Given the description of an element on the screen output the (x, y) to click on. 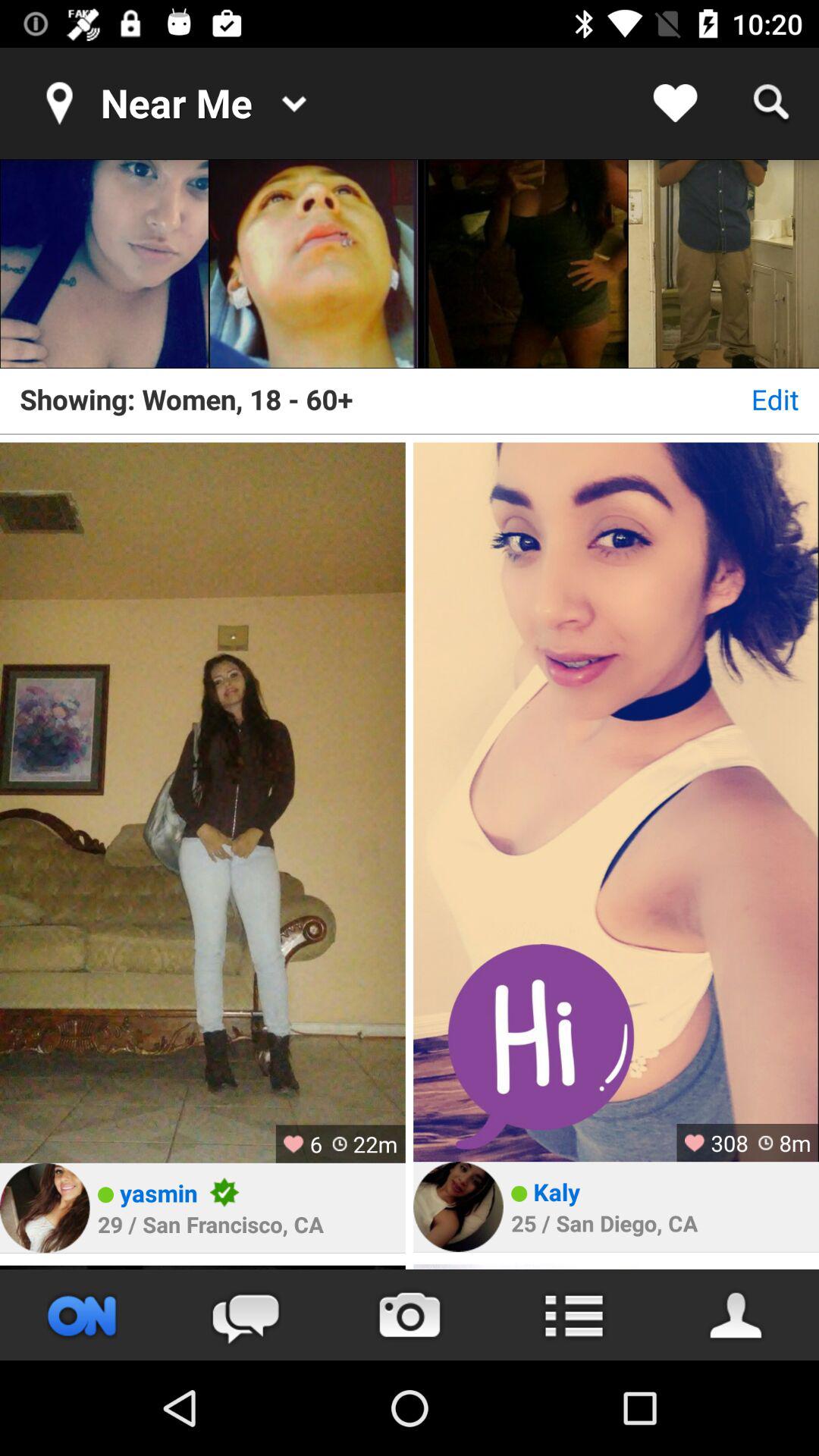
open profile page (737, 1315)
